Given the description of an element on the screen output the (x, y) to click on. 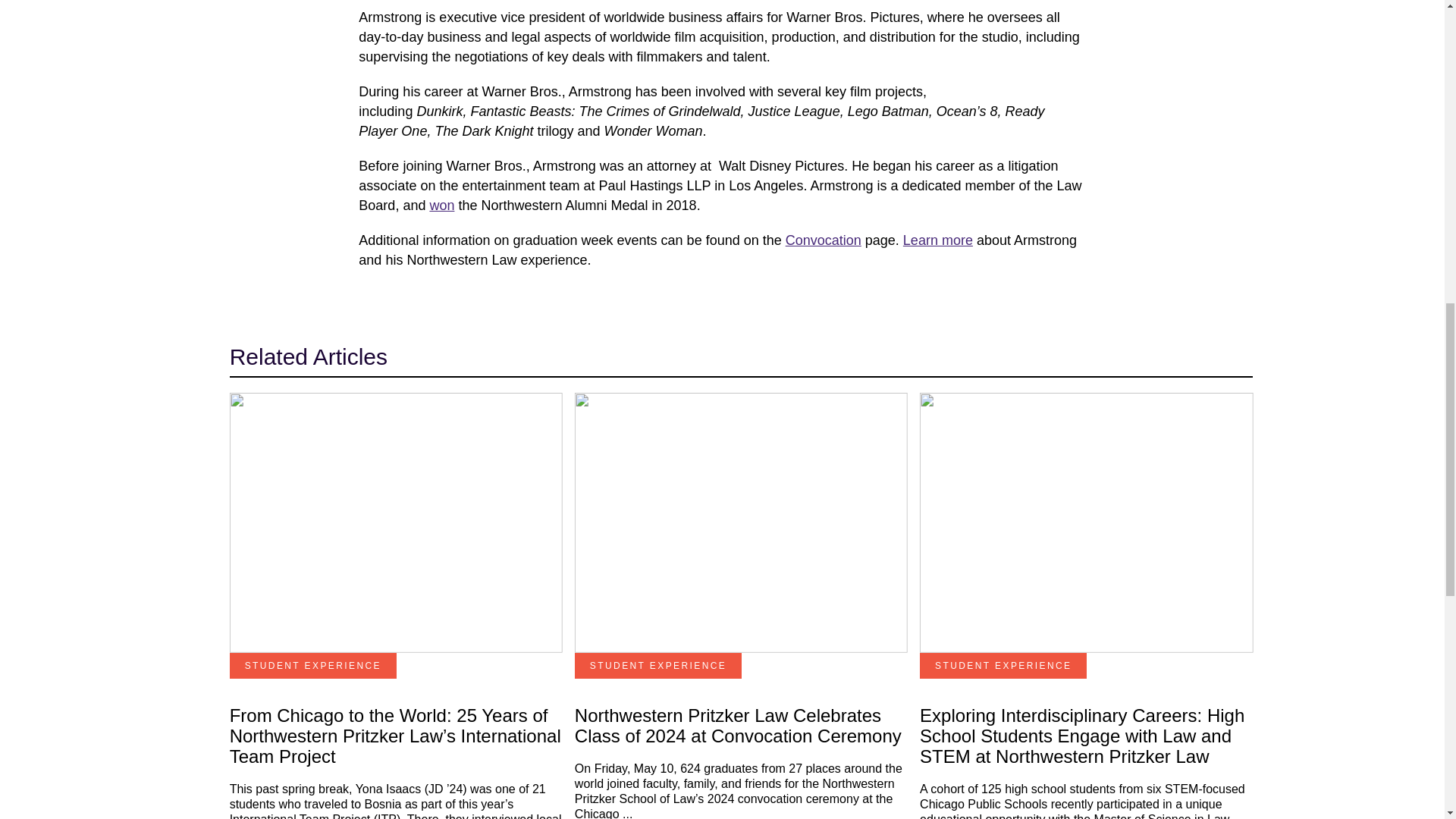
STUDENT EXPERIENCE (313, 665)
Learn more (937, 240)
Convocation (823, 240)
won (441, 205)
STUDENT EXPERIENCE (1003, 665)
STUDENT EXPERIENCE (658, 665)
